Given the description of an element on the screen output the (x, y) to click on. 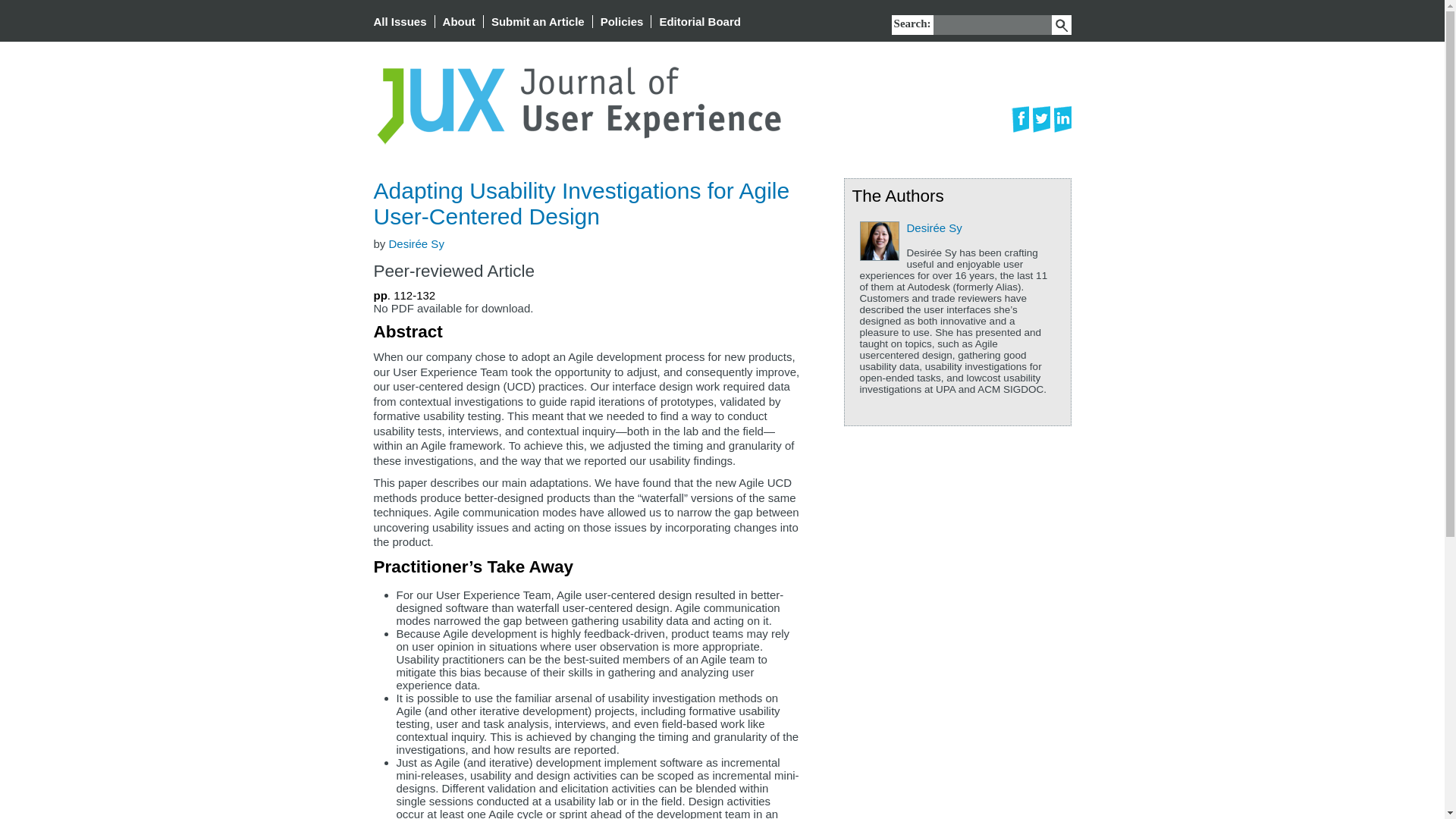
About (459, 21)
Policies (621, 21)
All Issues (399, 21)
Editorial Board (700, 21)
Submit an Article (538, 21)
